Given the description of an element on the screen output the (x, y) to click on. 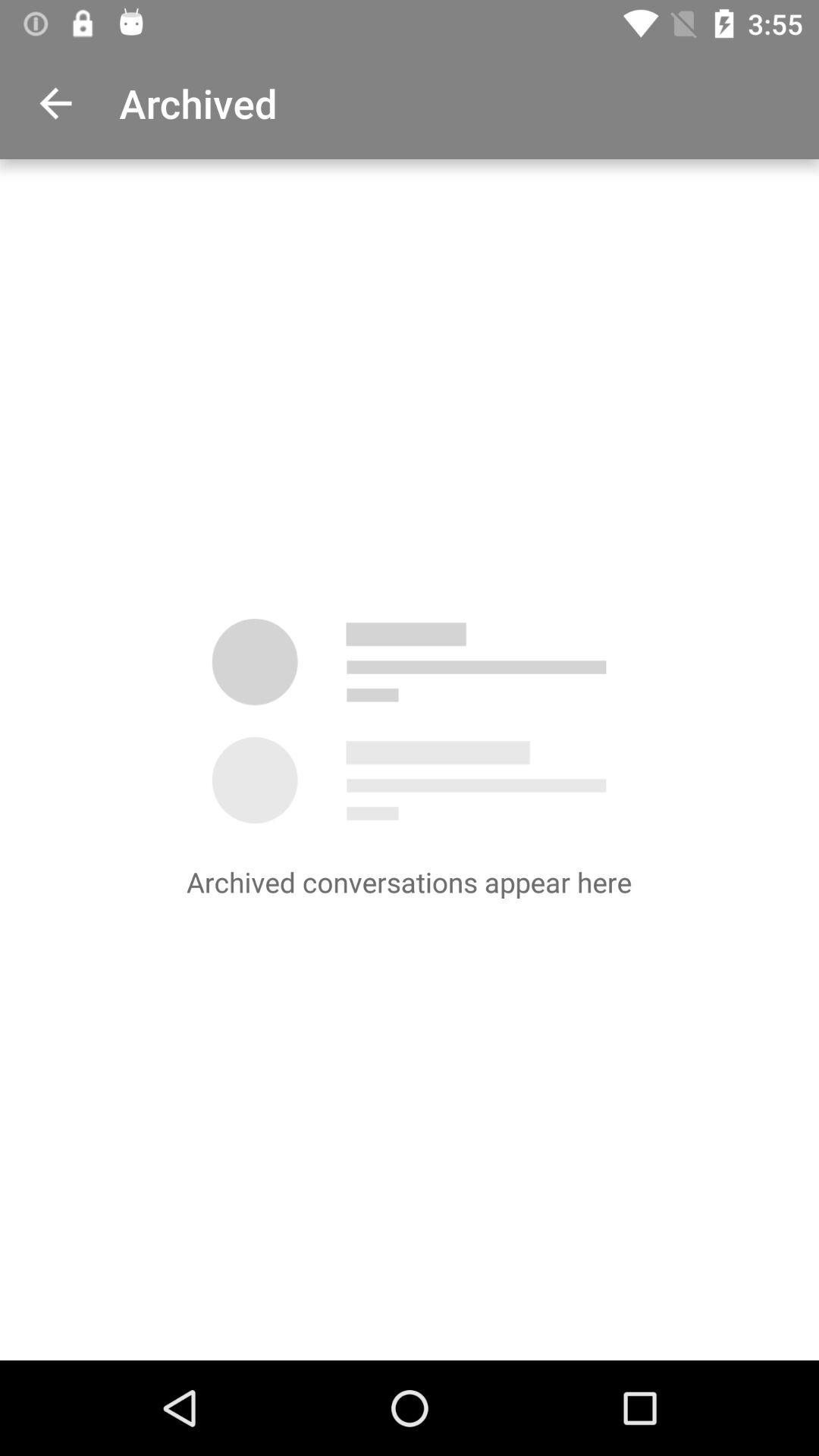
click app next to archived (55, 103)
